Given the description of an element on the screen output the (x, y) to click on. 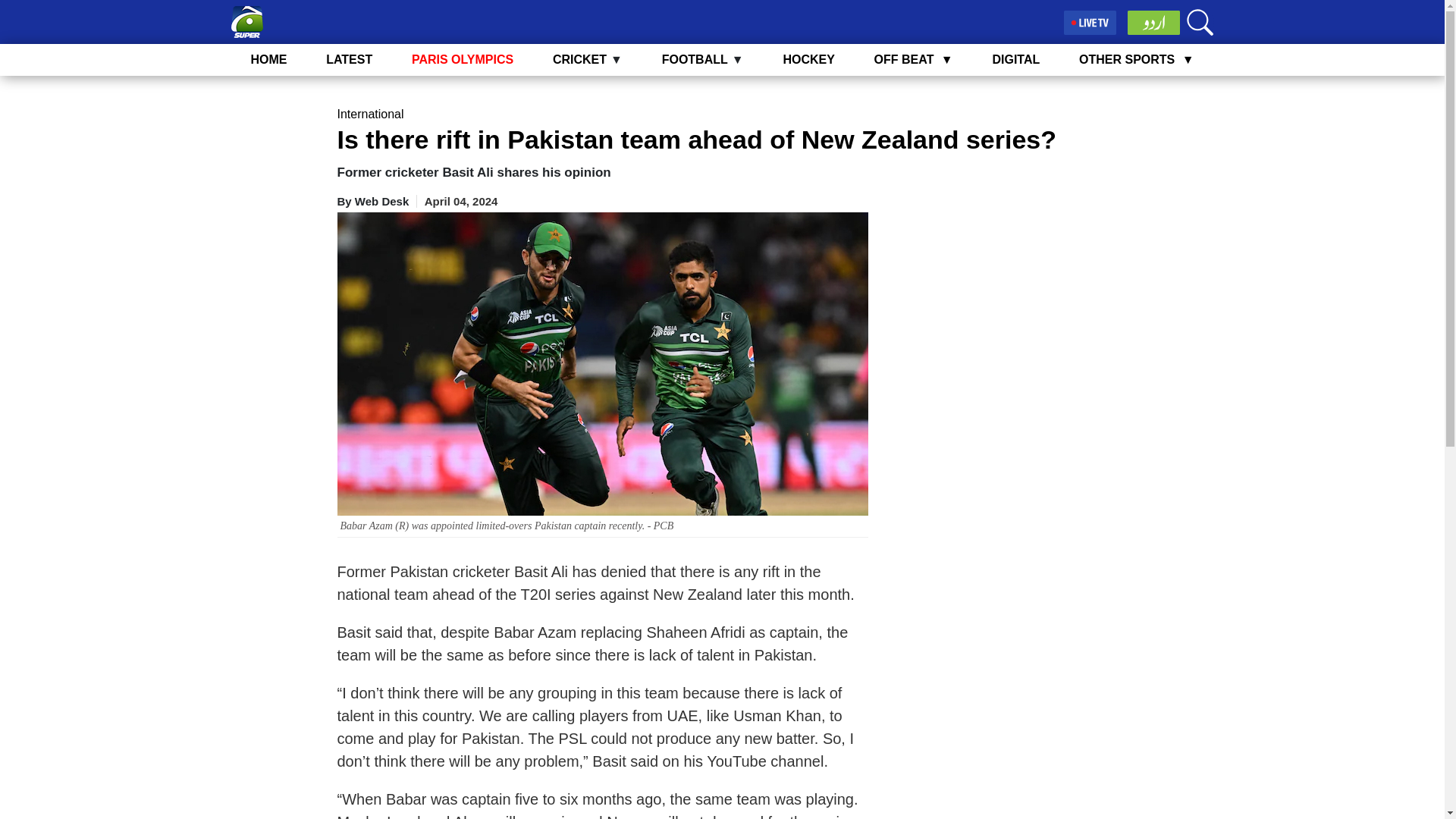
Search (1199, 22)
CRICKET (580, 59)
HOCKEY (808, 59)
PARIS OLYMPICS (462, 59)
LATEST (349, 59)
HOME (268, 59)
FOOTBALL (695, 59)
DIGITAL (1015, 59)
International (369, 113)
